Given the description of an element on the screen output the (x, y) to click on. 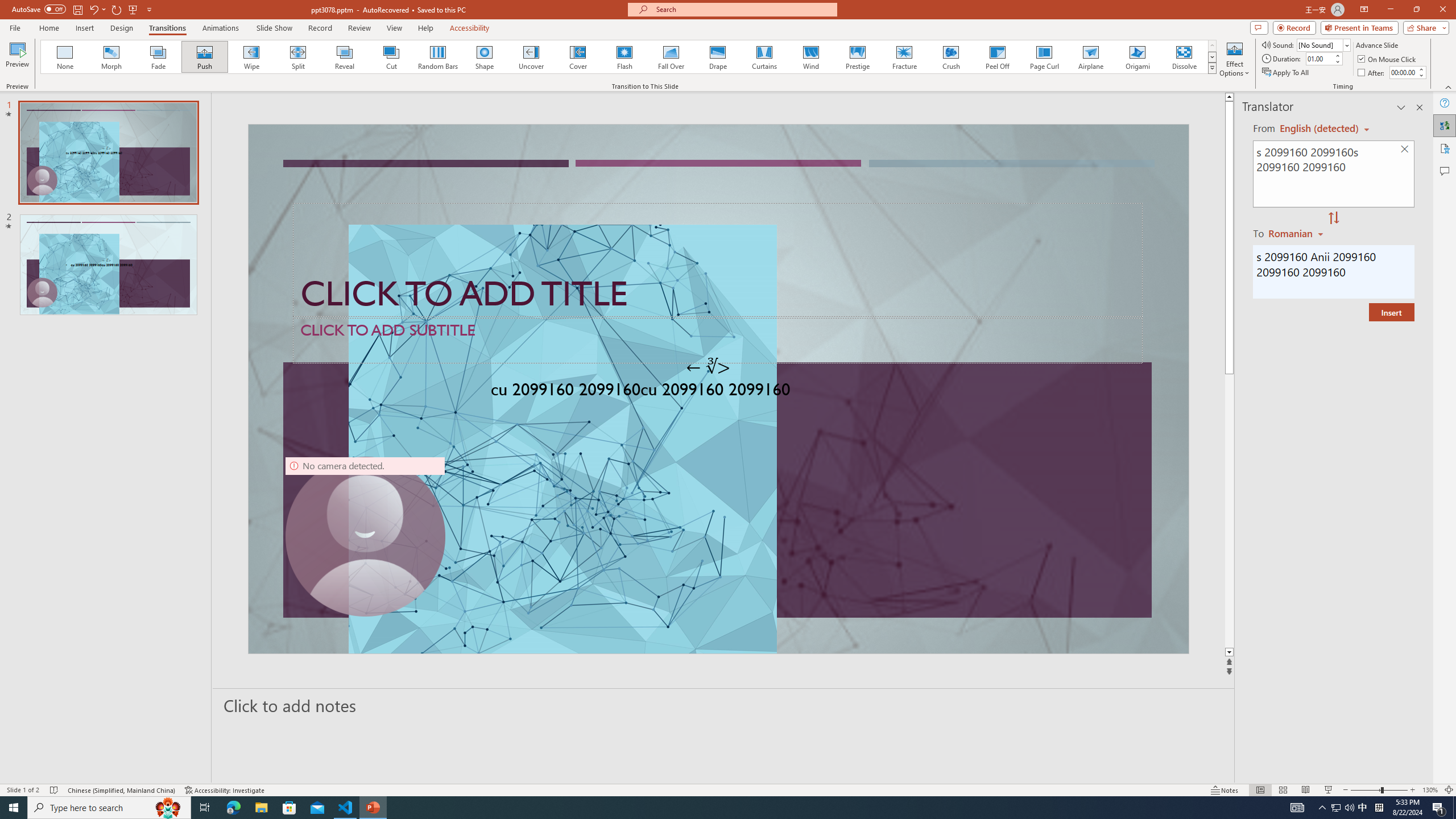
Drape (717, 56)
AutomationID: AnimationTransitionGallery (628, 56)
Shape (484, 56)
Reveal (344, 56)
On Mouse Click (1387, 58)
